Given the description of an element on the screen output the (x, y) to click on. 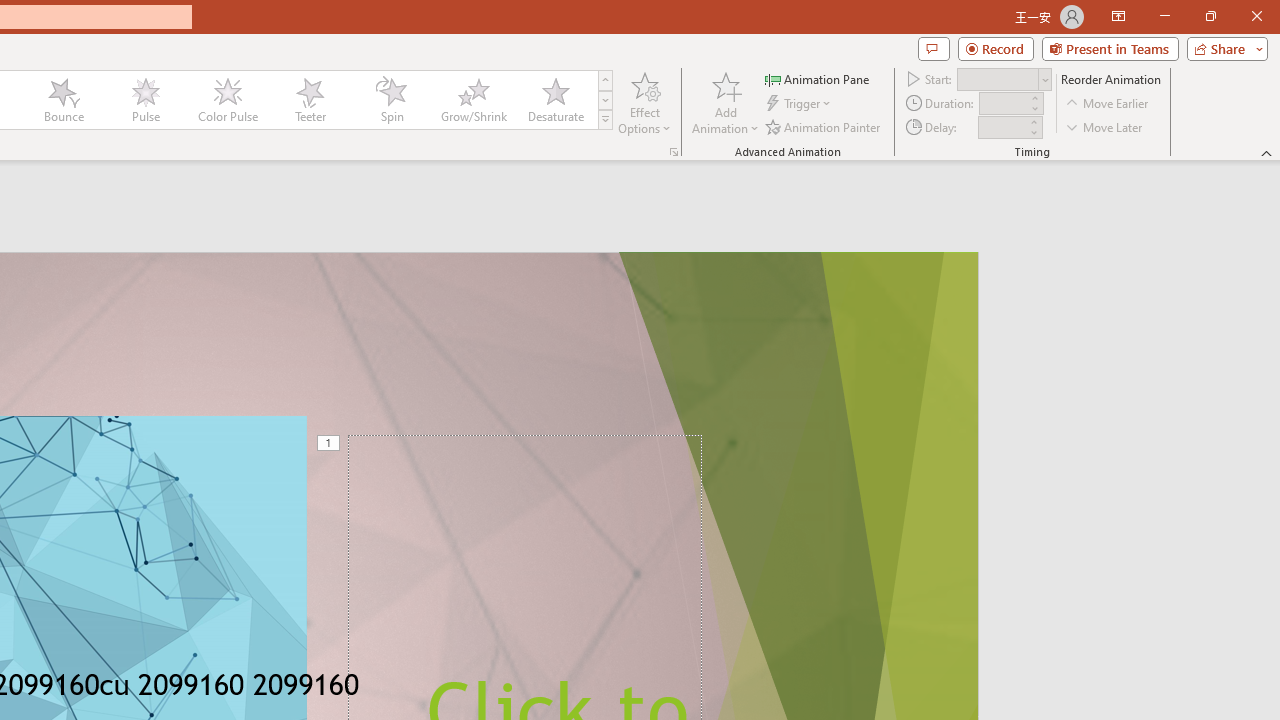
Animation Painter (824, 126)
Teeter (309, 100)
More Options... (673, 151)
